Given the description of an element on the screen output the (x, y) to click on. 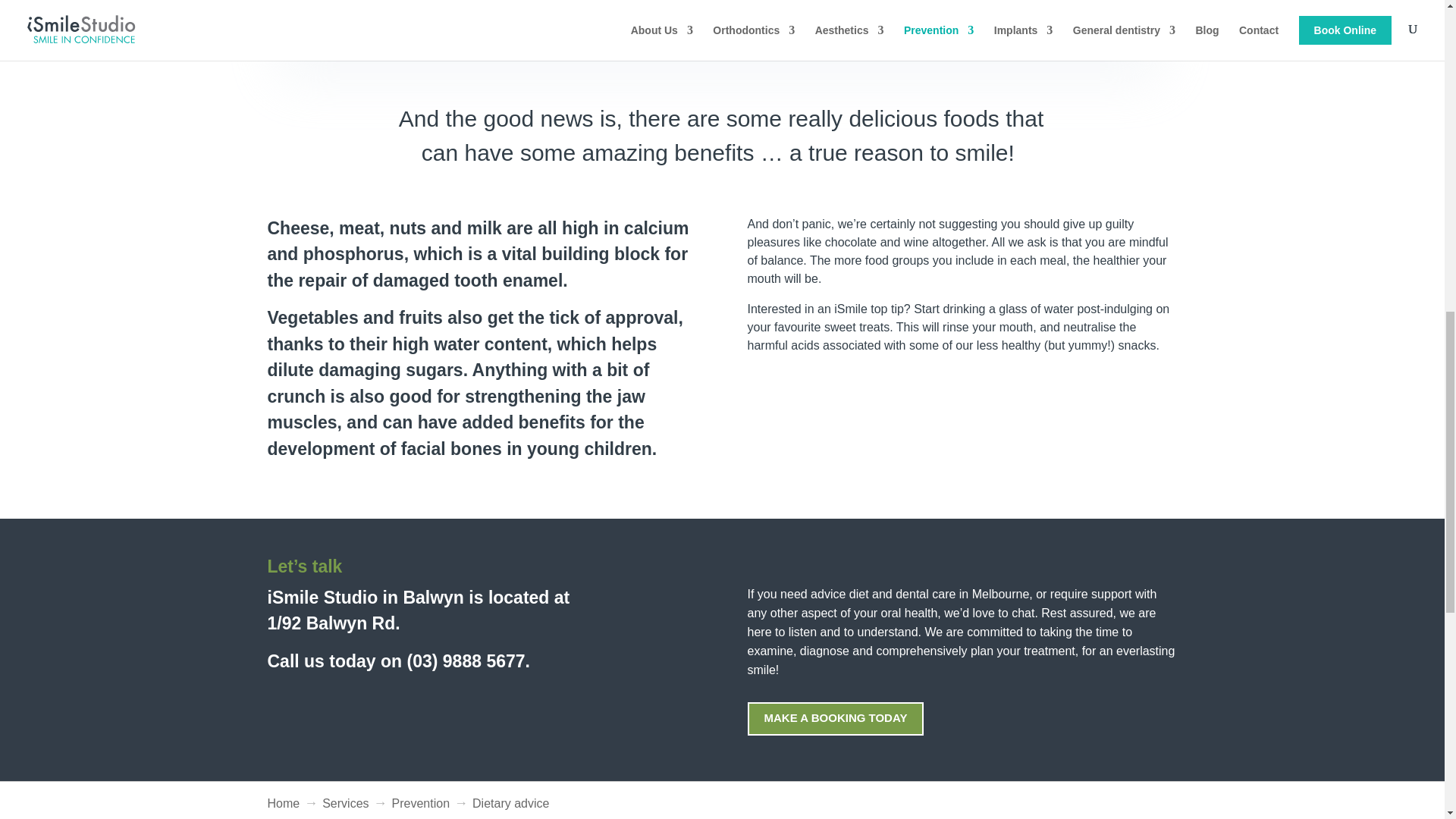
Home (282, 802)
Prevention (420, 802)
Services (344, 802)
MAKE A BOOKING TODAY (836, 718)
